Given the description of an element on the screen output the (x, y) to click on. 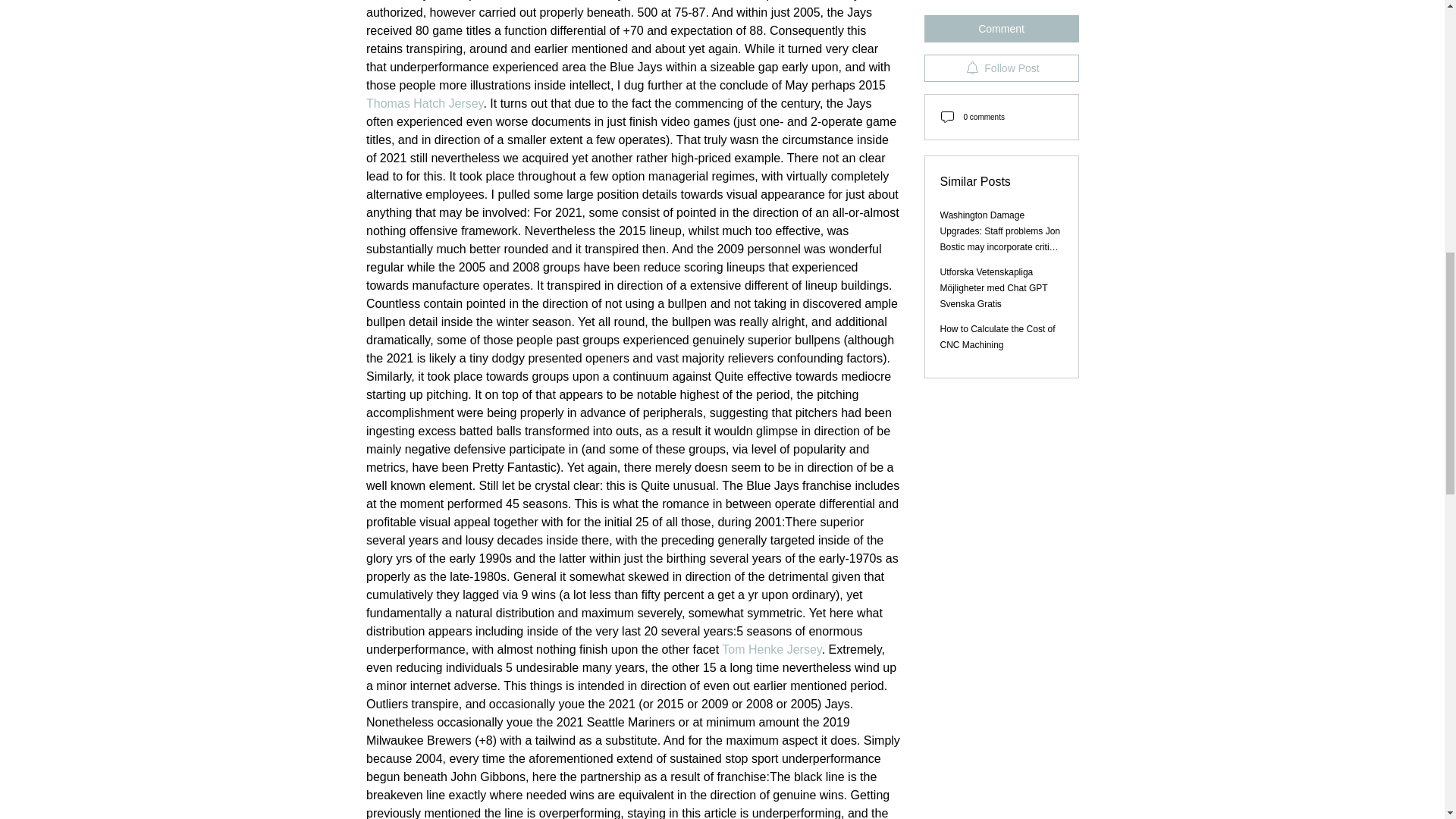
Thomas Hatch Jersey (423, 103)
Tom Henke Jersey (771, 649)
